Given the description of an element on the screen output the (x, y) to click on. 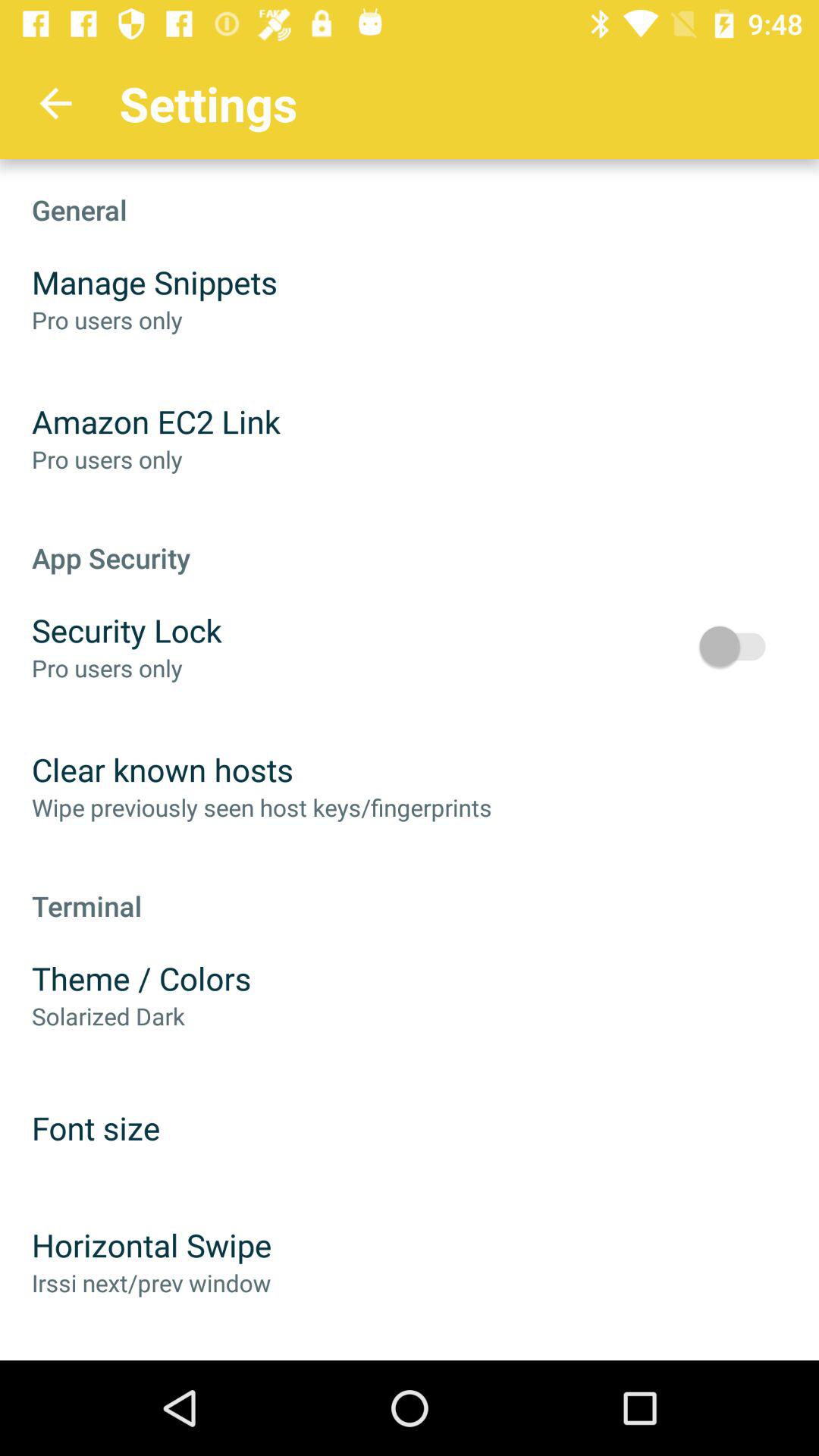
turn off item below theme / colors item (107, 1015)
